Given the description of an element on the screen output the (x, y) to click on. 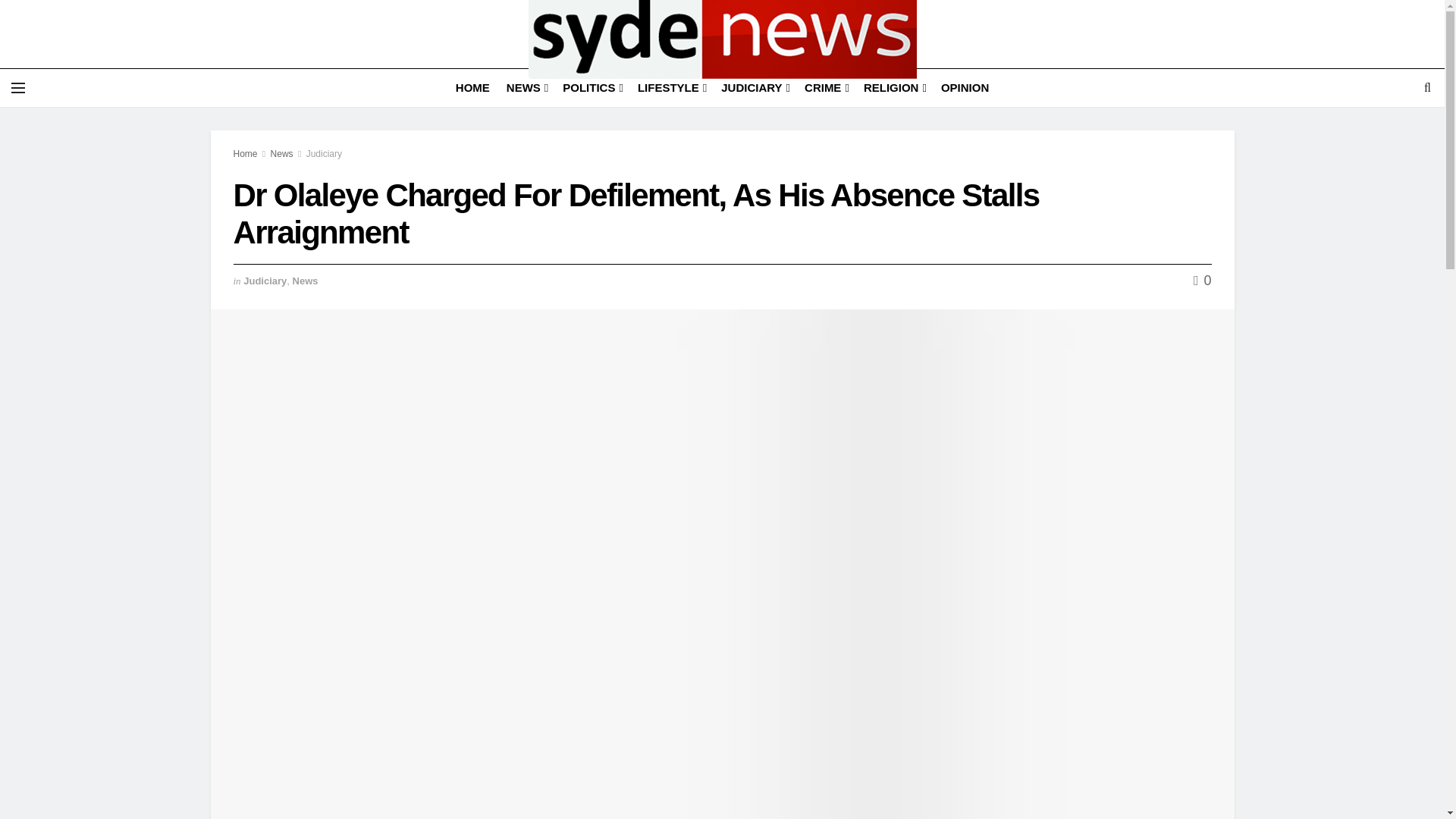
POLITICS (591, 87)
NEWS (526, 87)
HOME (472, 87)
